Given the description of an element on the screen output the (x, y) to click on. 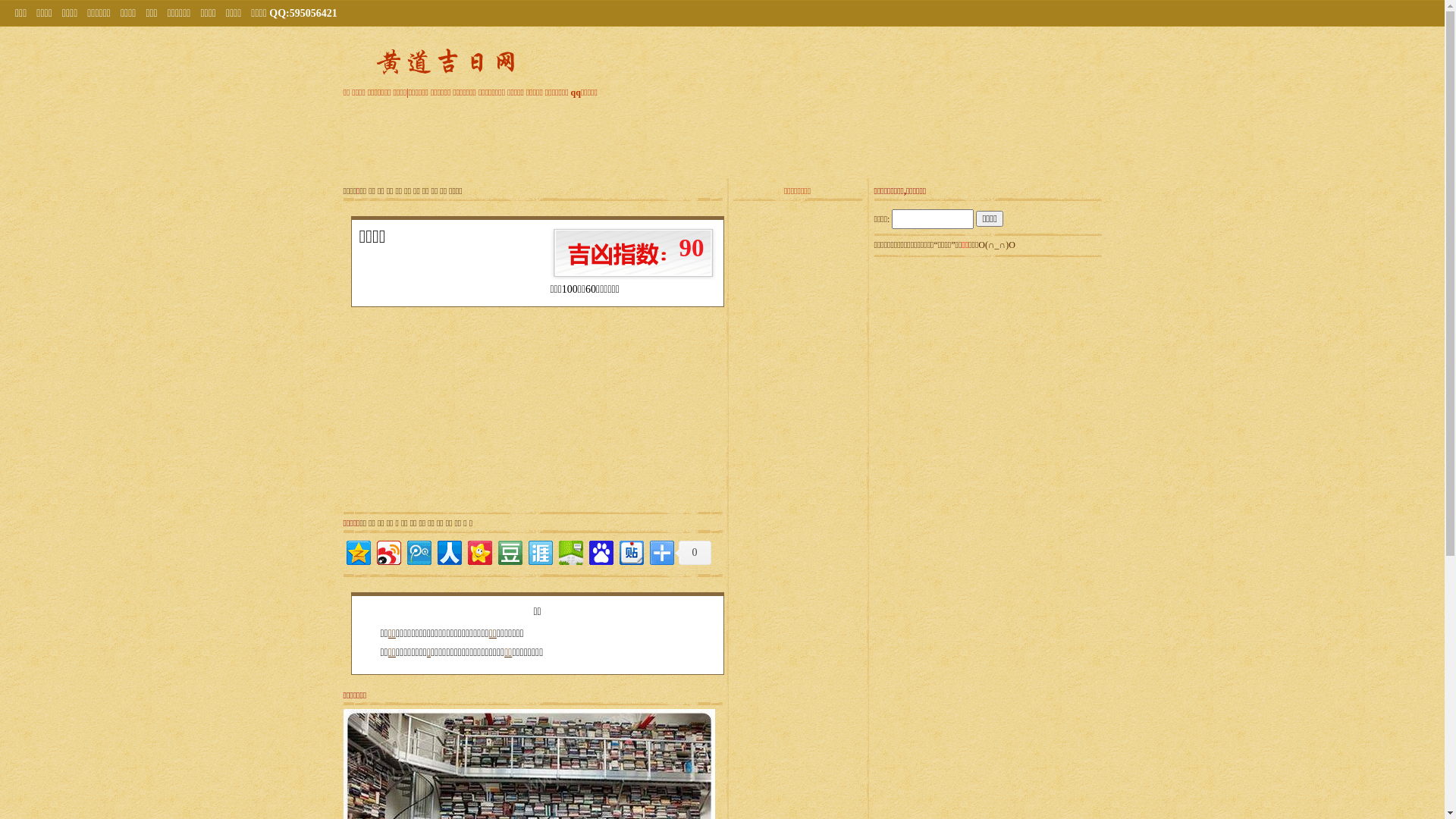
Advertisement Element type: hover (626, 413)
Advertisement Element type: hover (437, 413)
Advertisement Element type: hover (987, 545)
0 Element type: text (692, 552)
Advertisement Element type: hover (722, 136)
Advertisement Element type: hover (987, 355)
